Given the description of an element on the screen output the (x, y) to click on. 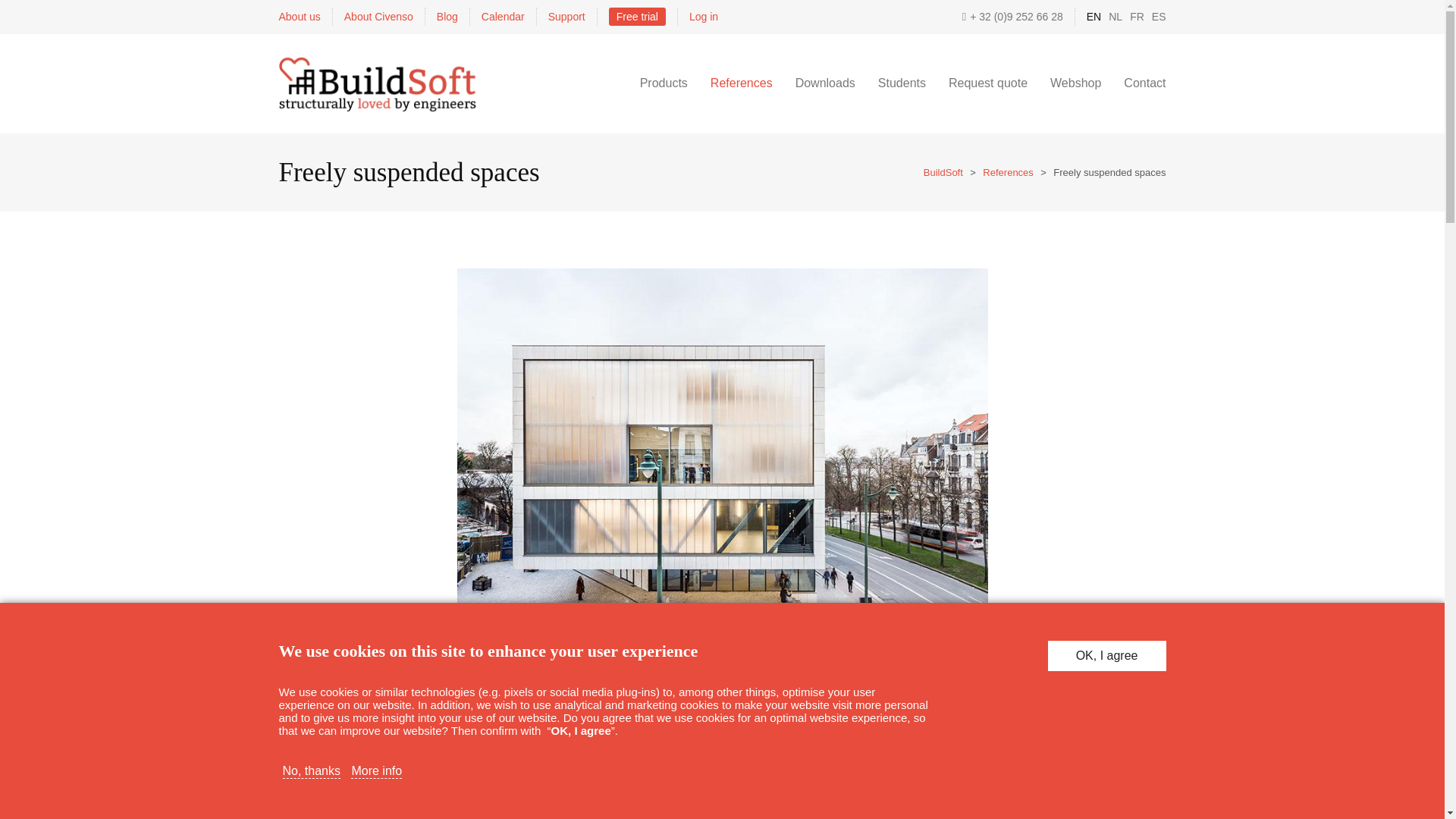
EN (1094, 16)
More info (375, 770)
Calendar (502, 16)
Free trial (636, 16)
Request quote (987, 83)
OK, I agree (1107, 654)
Downloads (825, 83)
About Civenso (378, 16)
Support (566, 16)
Products (663, 83)
Students (902, 83)
Contact (1144, 83)
Blog (447, 16)
References (1007, 172)
FR (1136, 16)
